Given the description of an element on the screen output the (x, y) to click on. 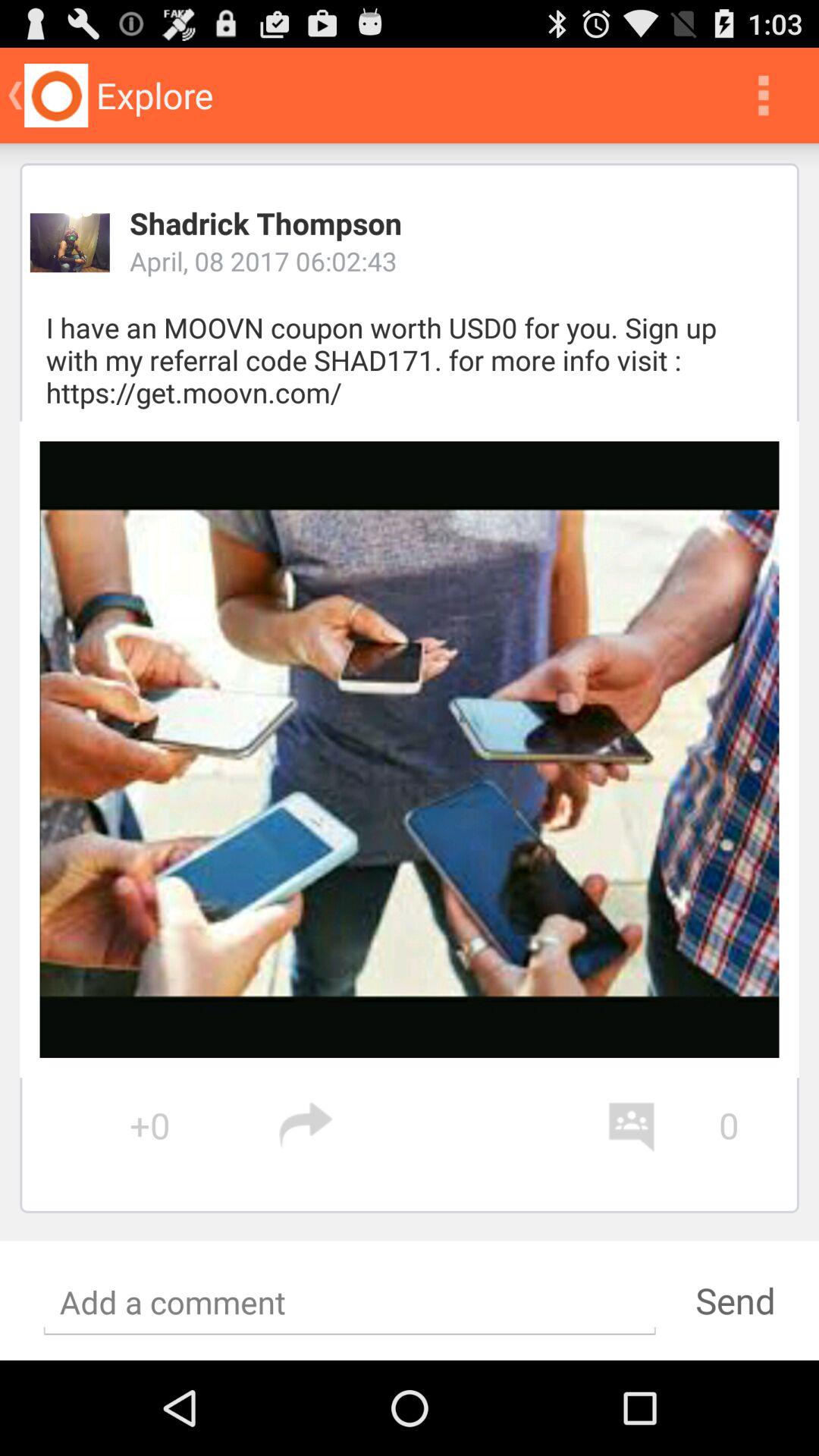
select icon next to the explore icon (763, 95)
